Given the description of an element on the screen output the (x, y) to click on. 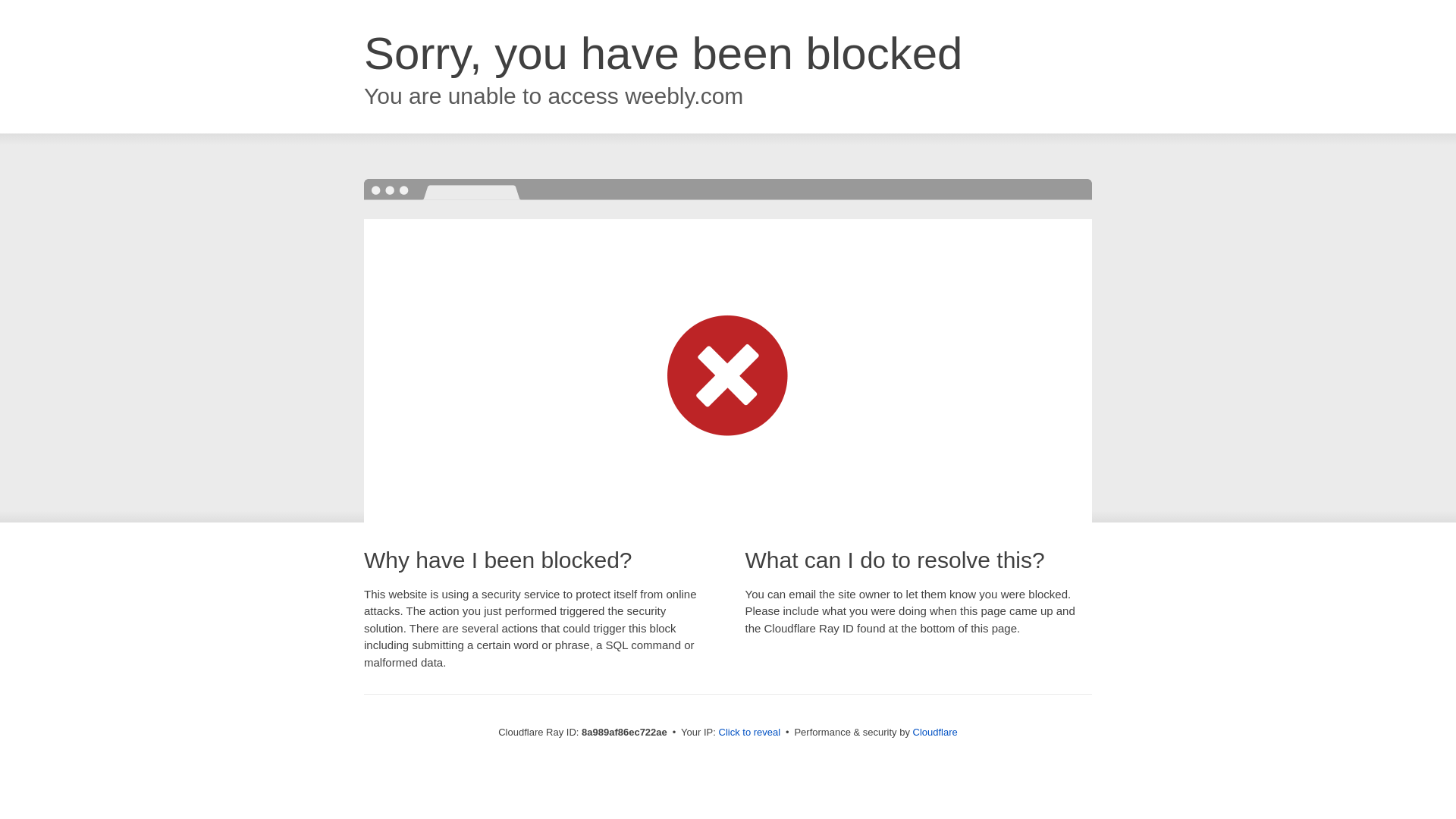
Click to reveal (749, 732)
Cloudflare (935, 731)
